Given the description of an element on the screen output the (x, y) to click on. 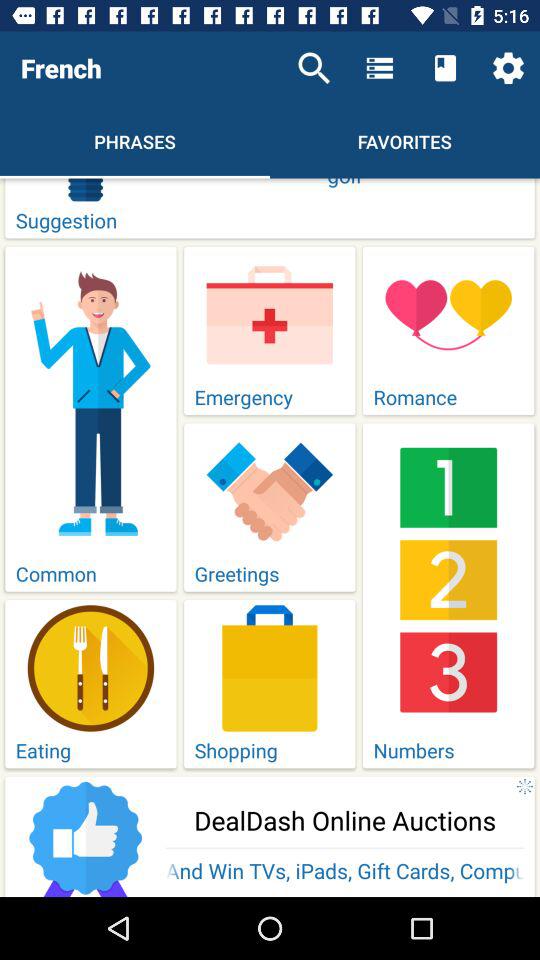
turn on item to the right of the french (313, 67)
